Given the description of an element on the screen output the (x, y) to click on. 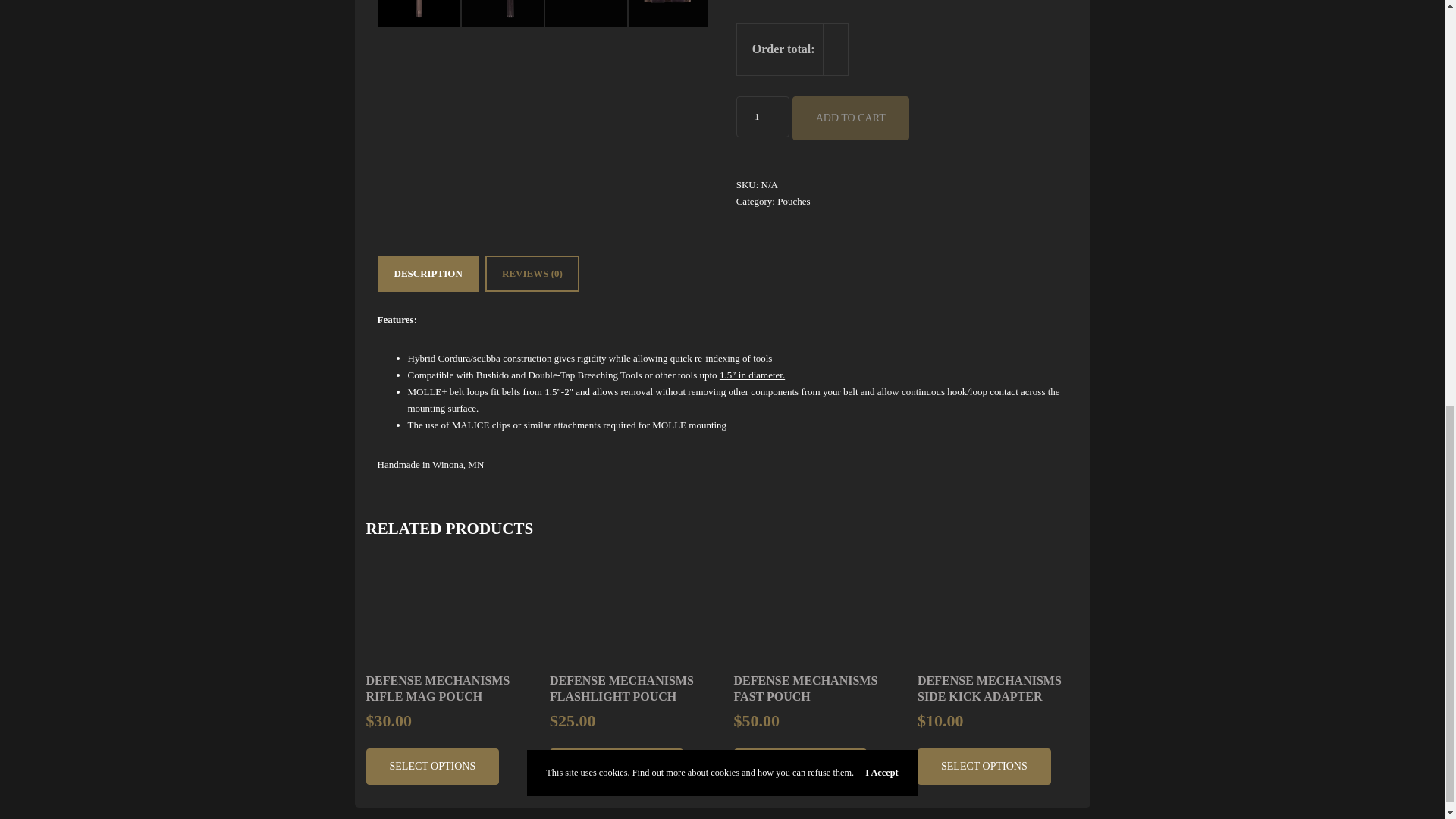
1 (762, 116)
ADD TO CART (850, 118)
DESCRIPTION (427, 273)
MALICE clips (481, 424)
Pouches (793, 201)
